Given the description of an element on the screen output the (x, y) to click on. 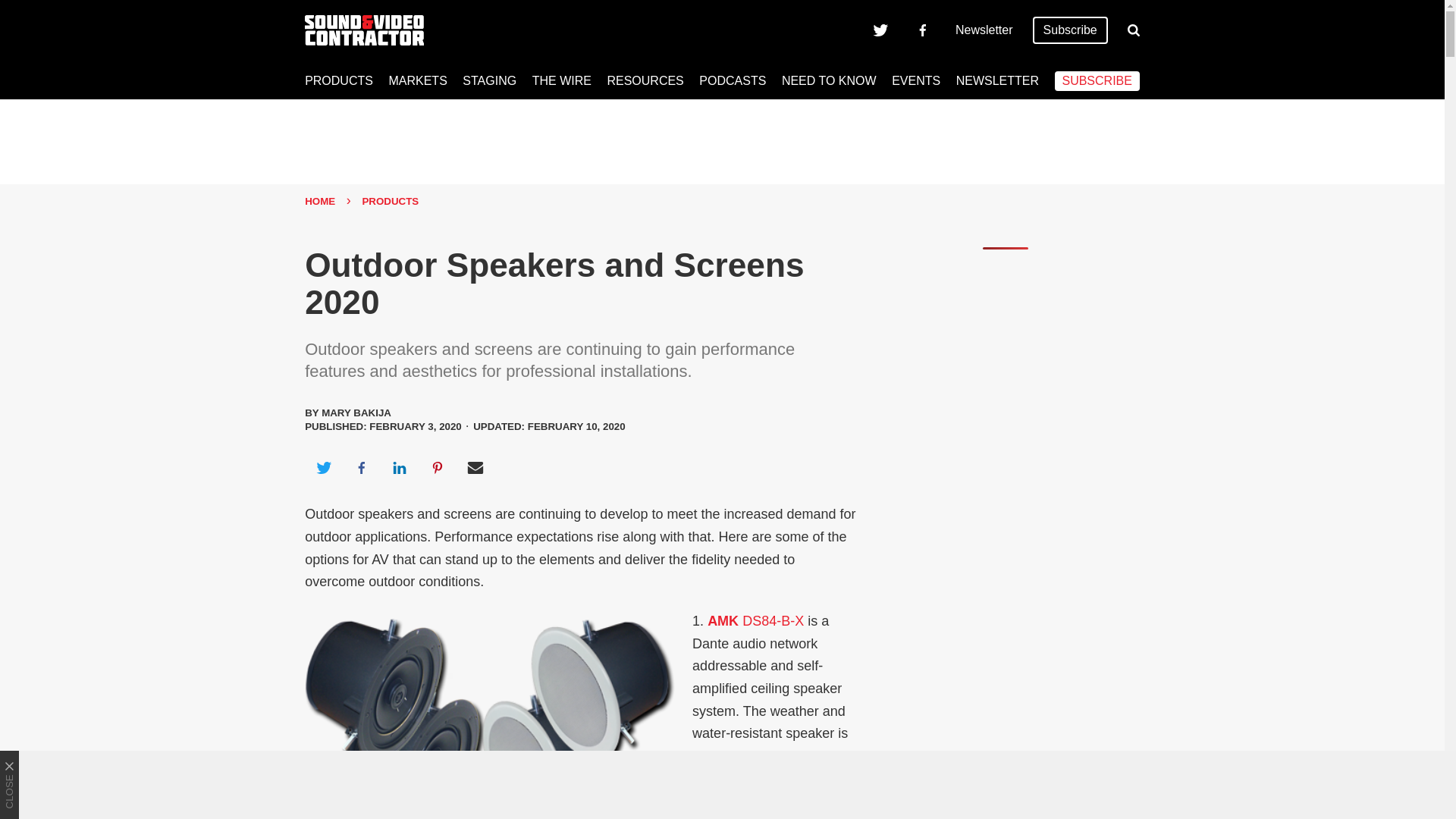
Share on Facebook (361, 467)
Share on Twitter (323, 467)
Share on LinkedIn (399, 467)
Share on Pinterest (438, 467)
Share via Email (476, 467)
